Given the description of an element on the screen output the (x, y) to click on. 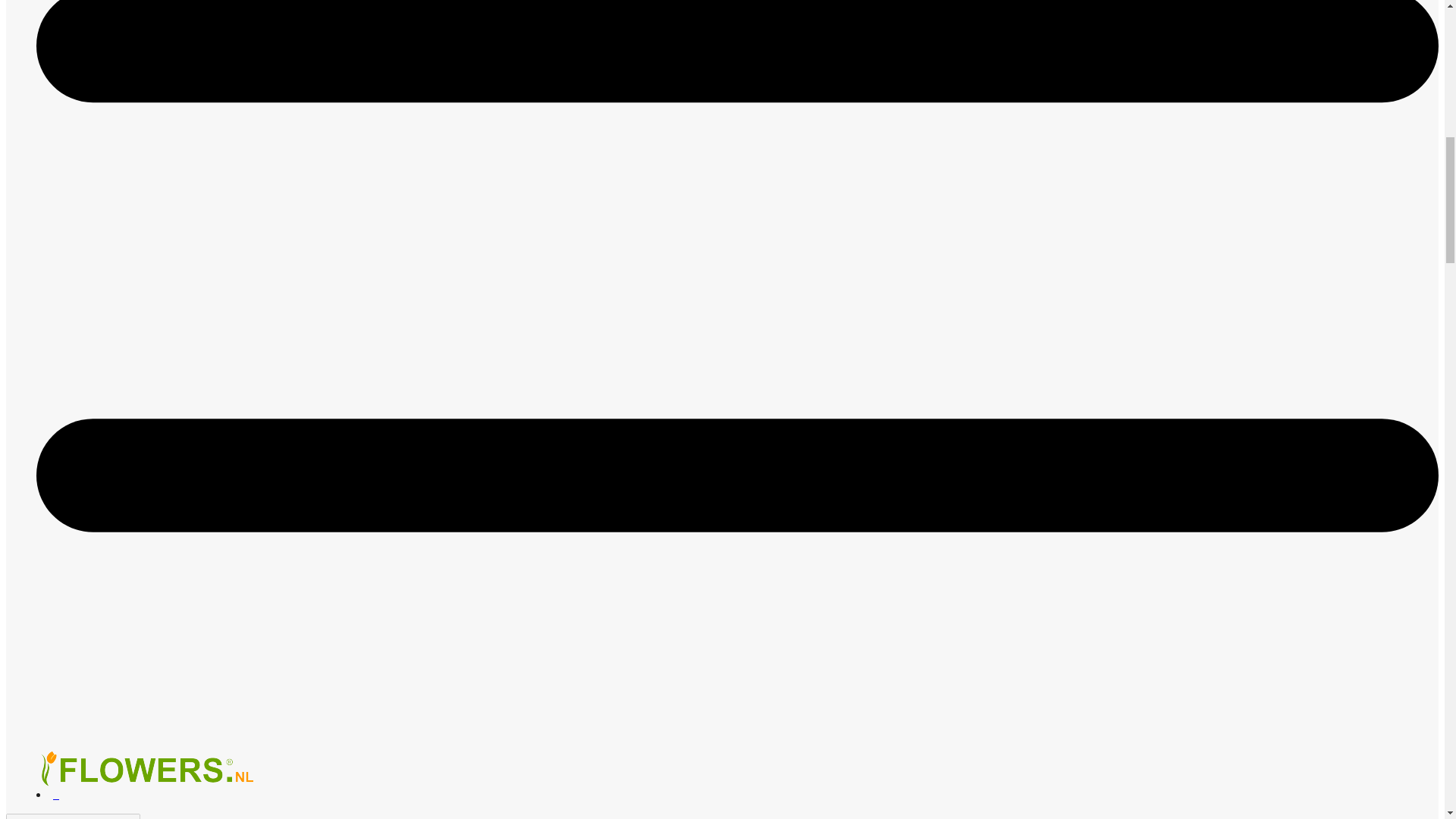
Find (148, 816)
Flowers.NL - Delivering your emotions (149, 768)
